Given the description of an element on the screen output the (x, y) to click on. 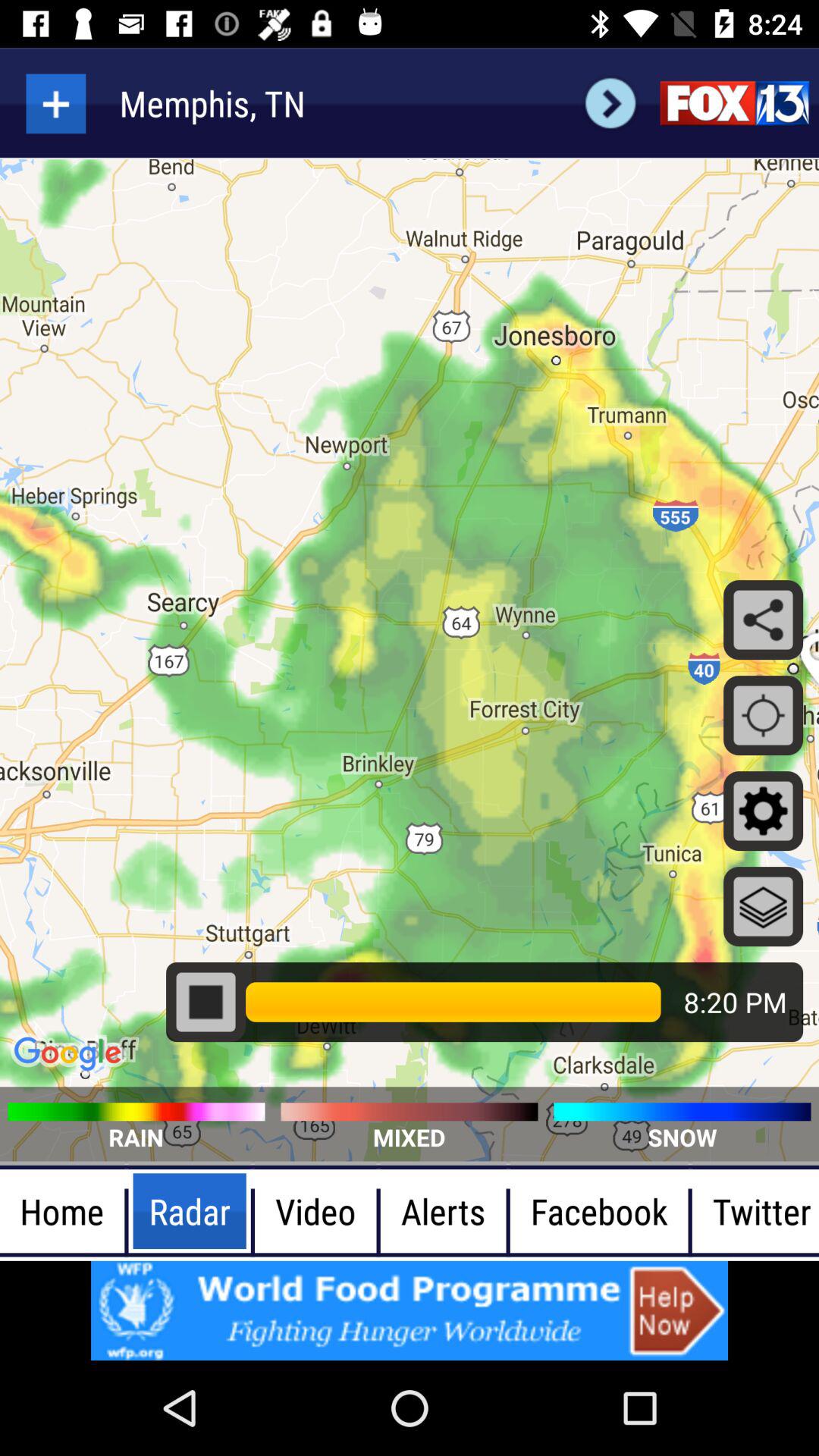
go next (610, 103)
